Given the description of an element on the screen output the (x, y) to click on. 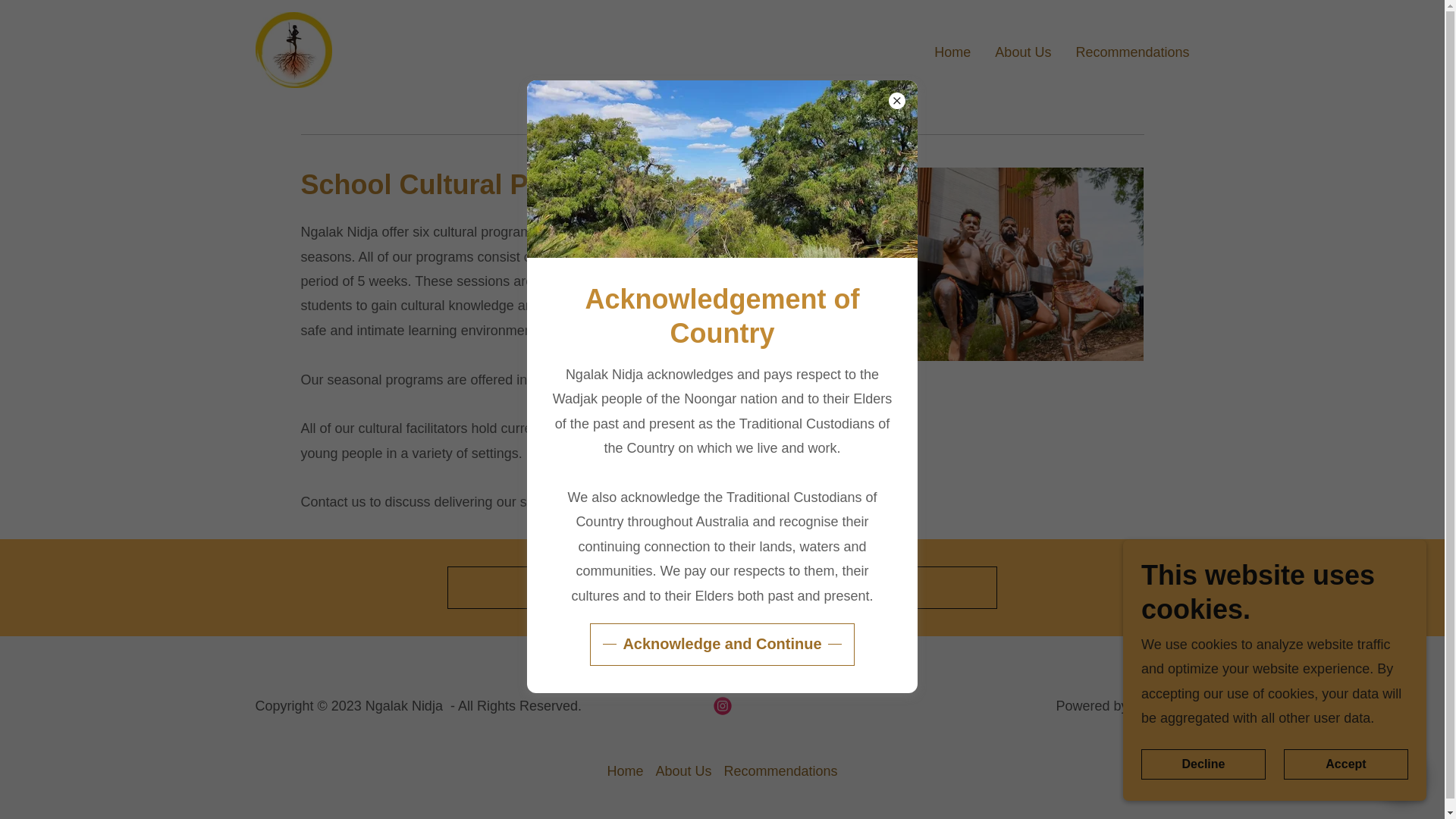
Recommendations (780, 771)
About Us (1022, 50)
Acknowledge and Continue (721, 644)
Home (952, 50)
Decline (1203, 764)
Recommendations (1131, 50)
About Us (683, 771)
Home (624, 771)
GoDaddy (1160, 705)
Return Home (721, 587)
